Given the description of an element on the screen output the (x, y) to click on. 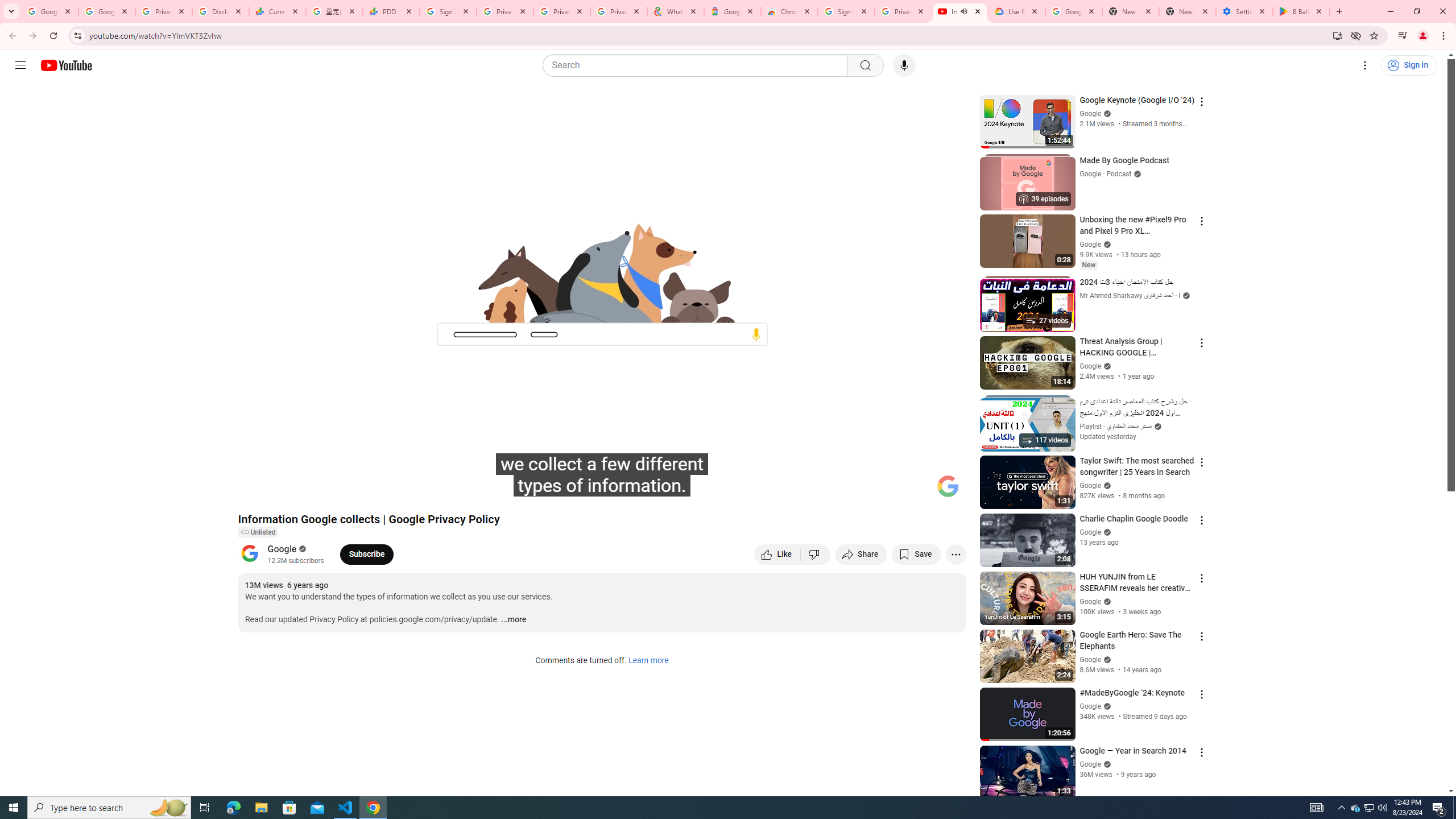
Full screen (f) (945, 490)
Sign in - Google Accounts (845, 11)
8 Ball Pool - Apps on Google Play (1301, 11)
Guide (20, 65)
